Given the description of an element on the screen output the (x, y) to click on. 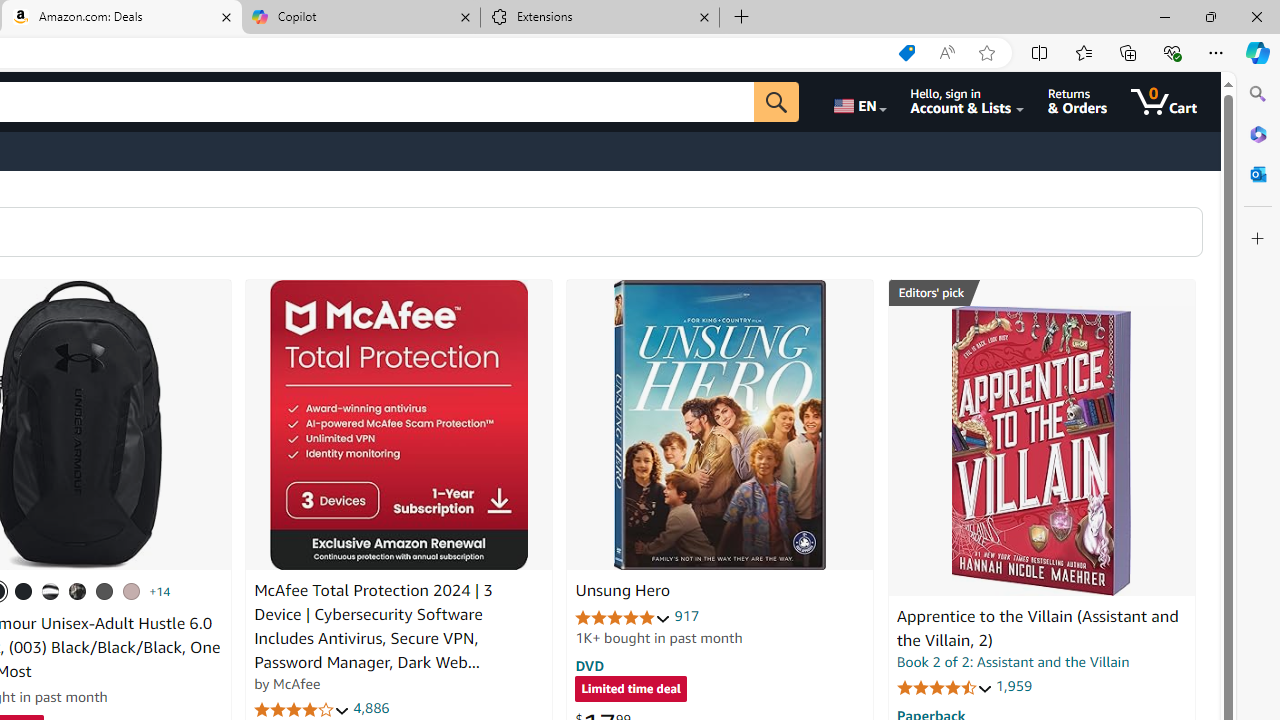
Choose a language for shopping. (858, 101)
Go (776, 101)
DVD (589, 665)
(015) Tetra Gray / Tetra Gray / Gray Matter (131, 591)
4.6 out of 5 stars (944, 686)
Unsung Hero (720, 425)
(005) Black Full Heather / Black / Metallic Gold (104, 591)
Book 2 of 2: Assistant and the Villain (1013, 662)
(001) Black / Black / Metallic Gold (24, 591)
(004) Black / Black / Metallic Gold (78, 591)
